Given the description of an element on the screen output the (x, y) to click on. 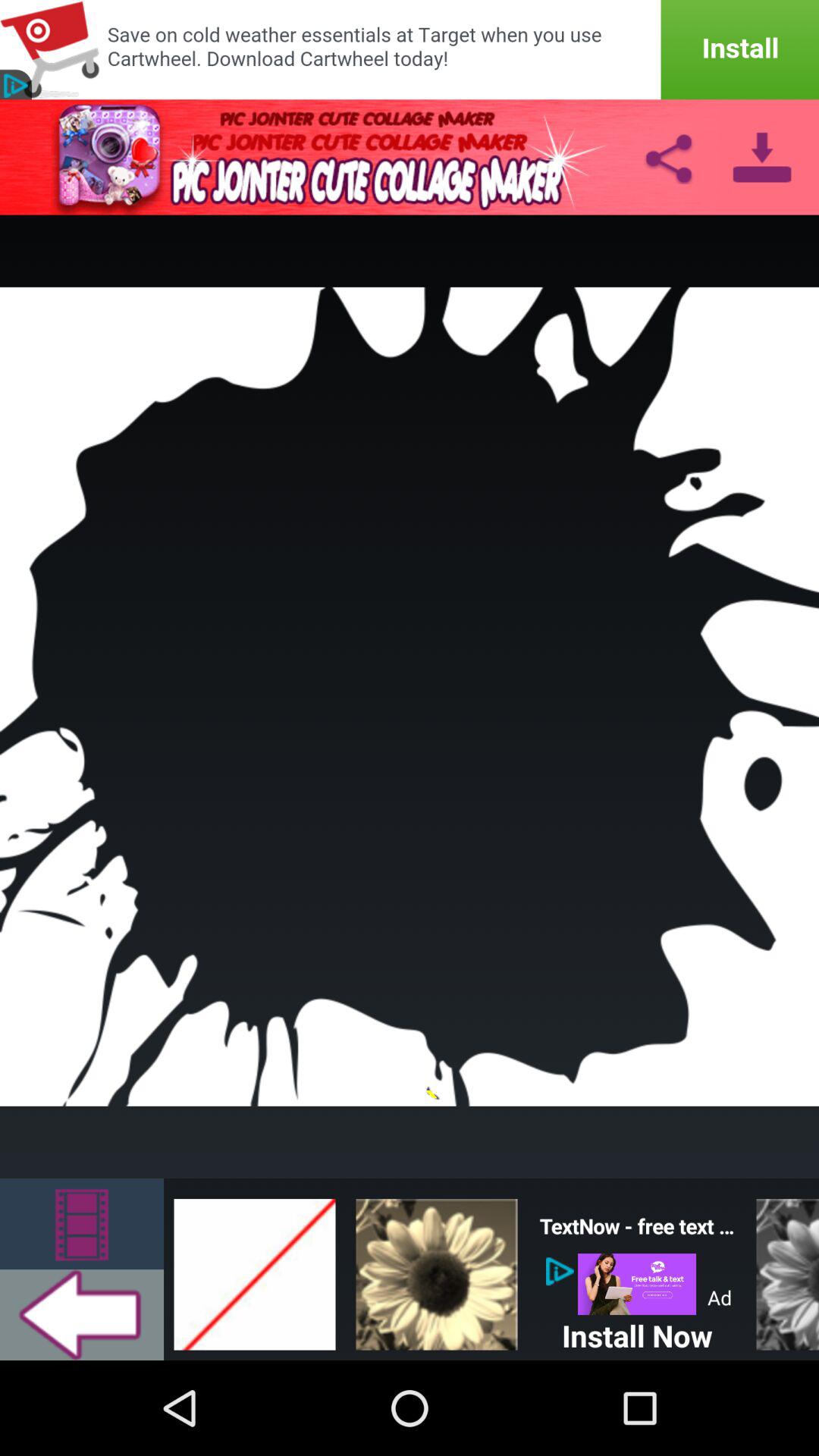
press target advertisement (409, 49)
